Given the description of an element on the screen output the (x, y) to click on. 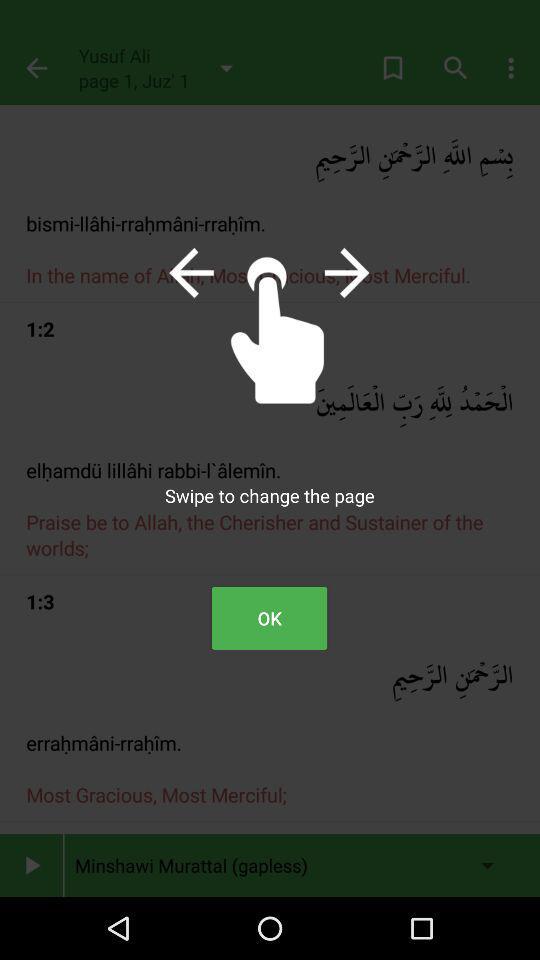
choose the icon below the swipe to change (269, 617)
